Given the description of an element on the screen output the (x, y) to click on. 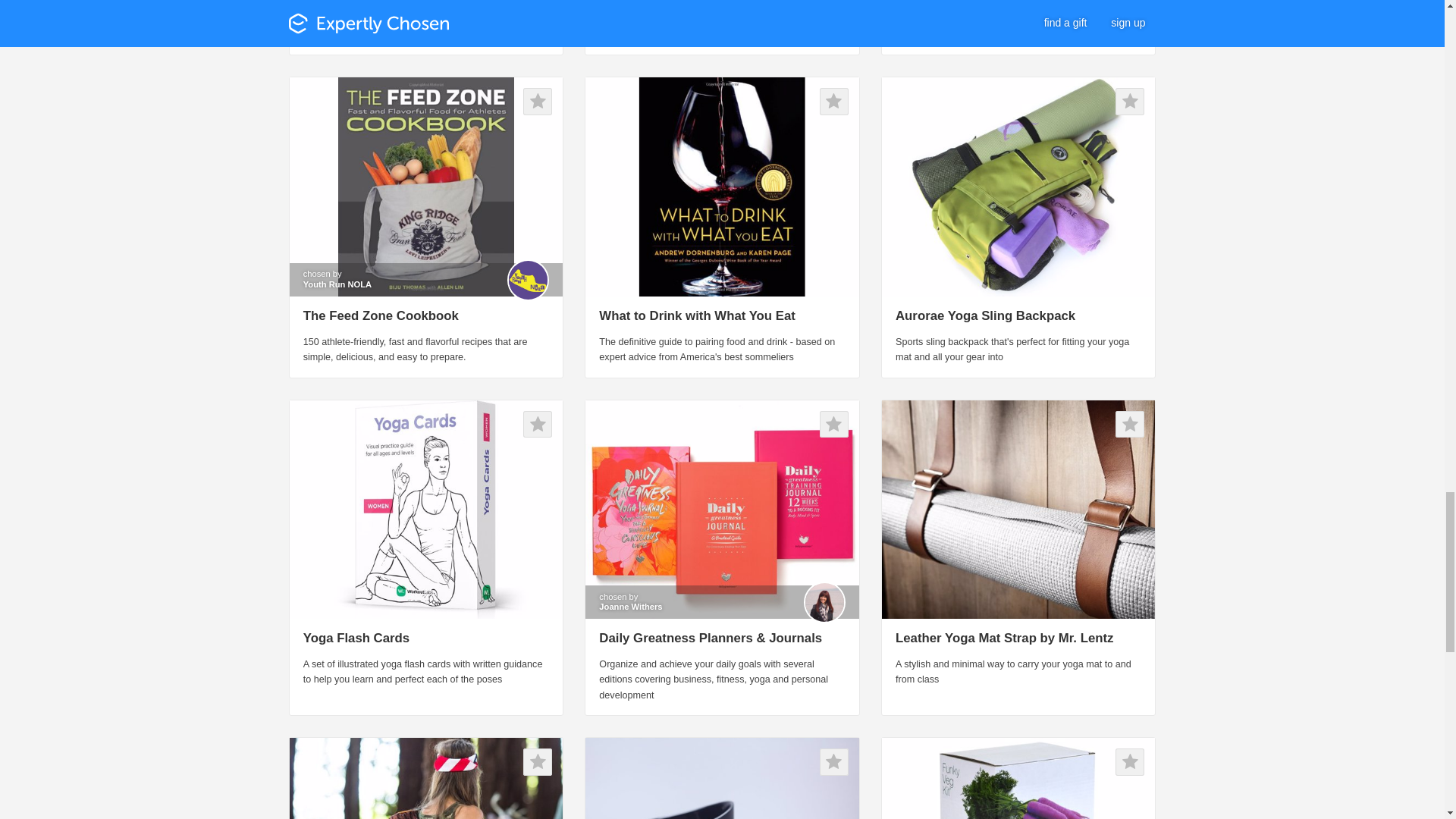
Add to my favorites (1129, 101)
Youth Run NOLA (337, 284)
Add to my favorites (536, 101)
What to Drink with What You Eat (696, 315)
Add to my favorites (536, 761)
The Feed Zone Cookbook (380, 315)
Aurorae Yoga Sling Backpack (985, 315)
Add to my favorites (833, 424)
Add to my favorites (1129, 424)
Add to my favorites (536, 424)
Add to my favorites (833, 101)
Add to my favorites (833, 761)
